Given the description of an element on the screen output the (x, y) to click on. 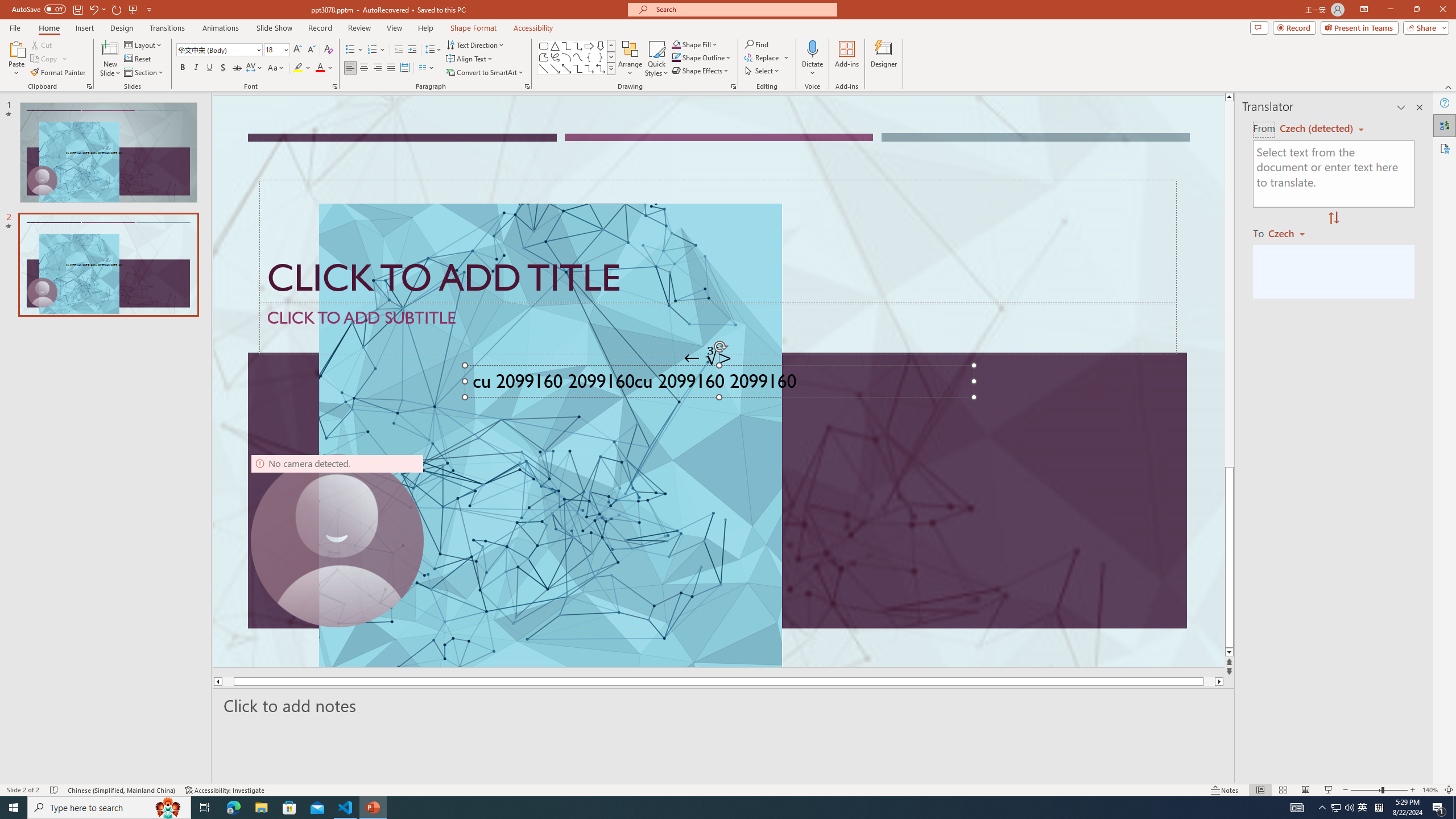
TextBox 7 (708, 357)
